Given the description of an element on the screen output the (x, y) to click on. 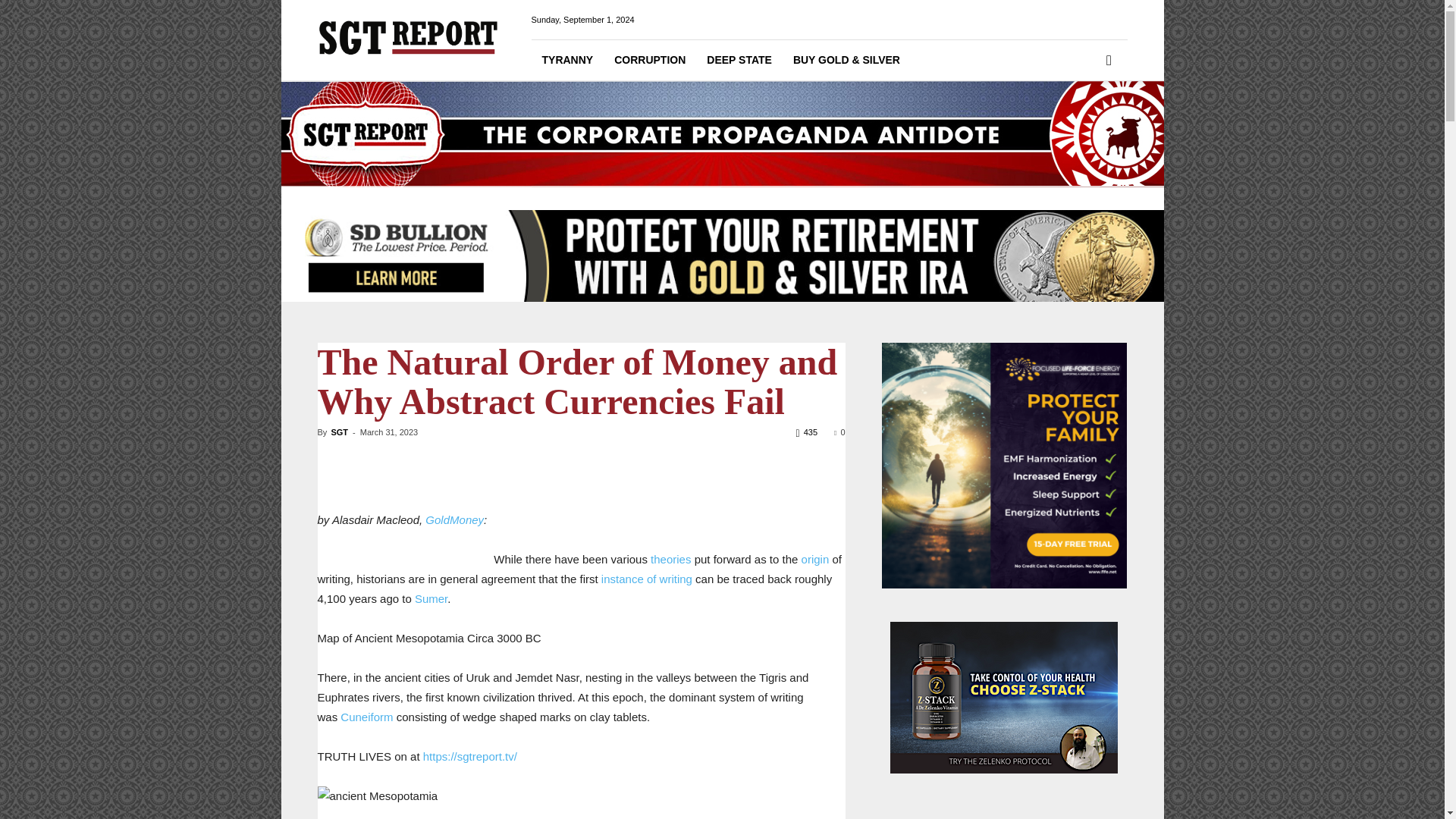
instance of writing (647, 578)
Search (1085, 122)
0 (839, 431)
GoldMoney (454, 519)
Cuneiform (366, 716)
CORRUPTION (649, 60)
origin (815, 558)
SGT (338, 431)
Sumer (430, 598)
TYRANNY (567, 60)
